Given the description of an element on the screen output the (x, y) to click on. 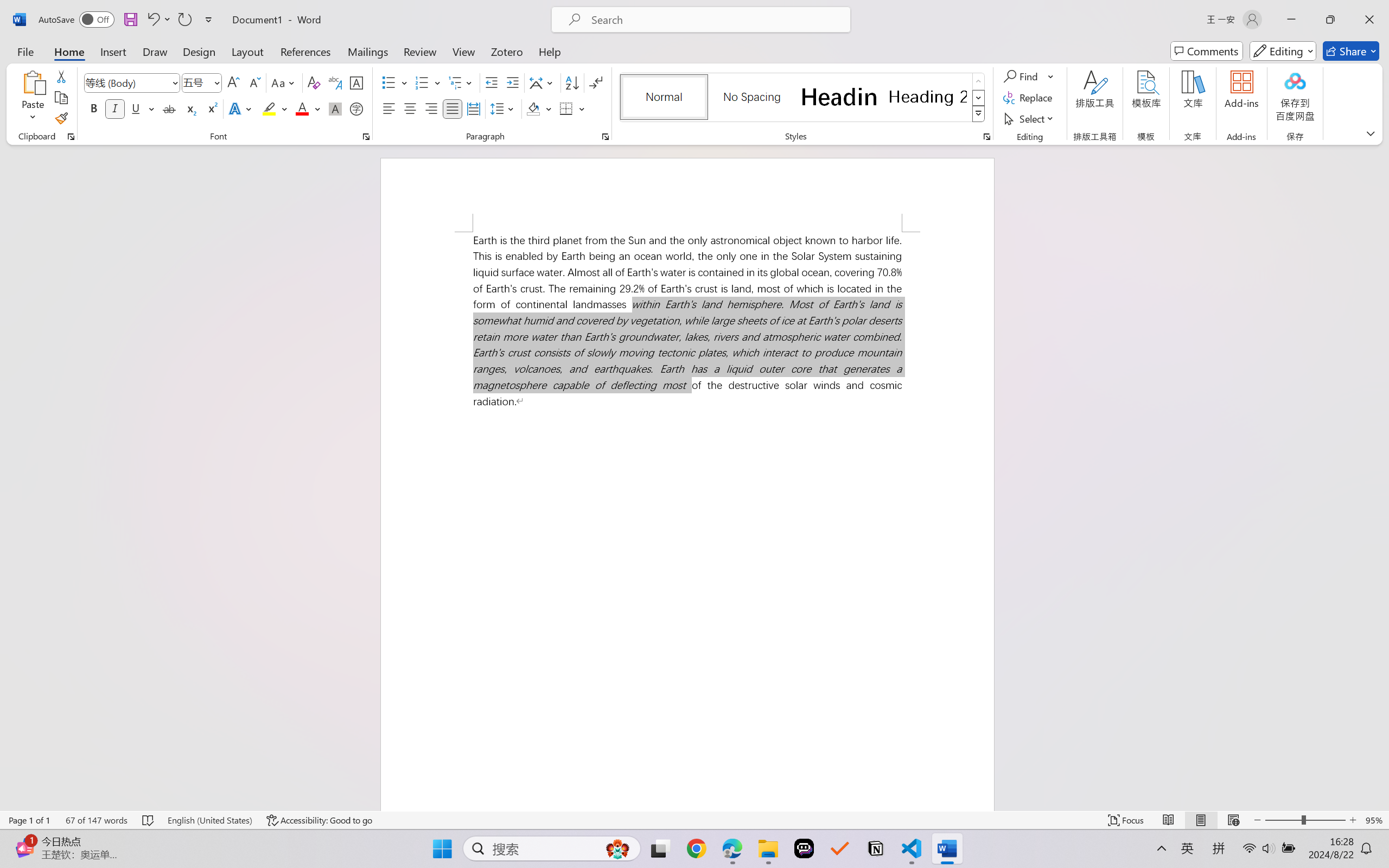
Notes  (1168, 837)
Home (46, 29)
Task Pane Options (1358, 131)
More Options (49, 73)
Review (343, 29)
Share (1358, 29)
Zoom In (1347, 837)
Comments (1201, 29)
From Current Slide... (121, 62)
Cameo (49, 62)
Slide (99, 177)
